Given the description of an element on the screen output the (x, y) to click on. 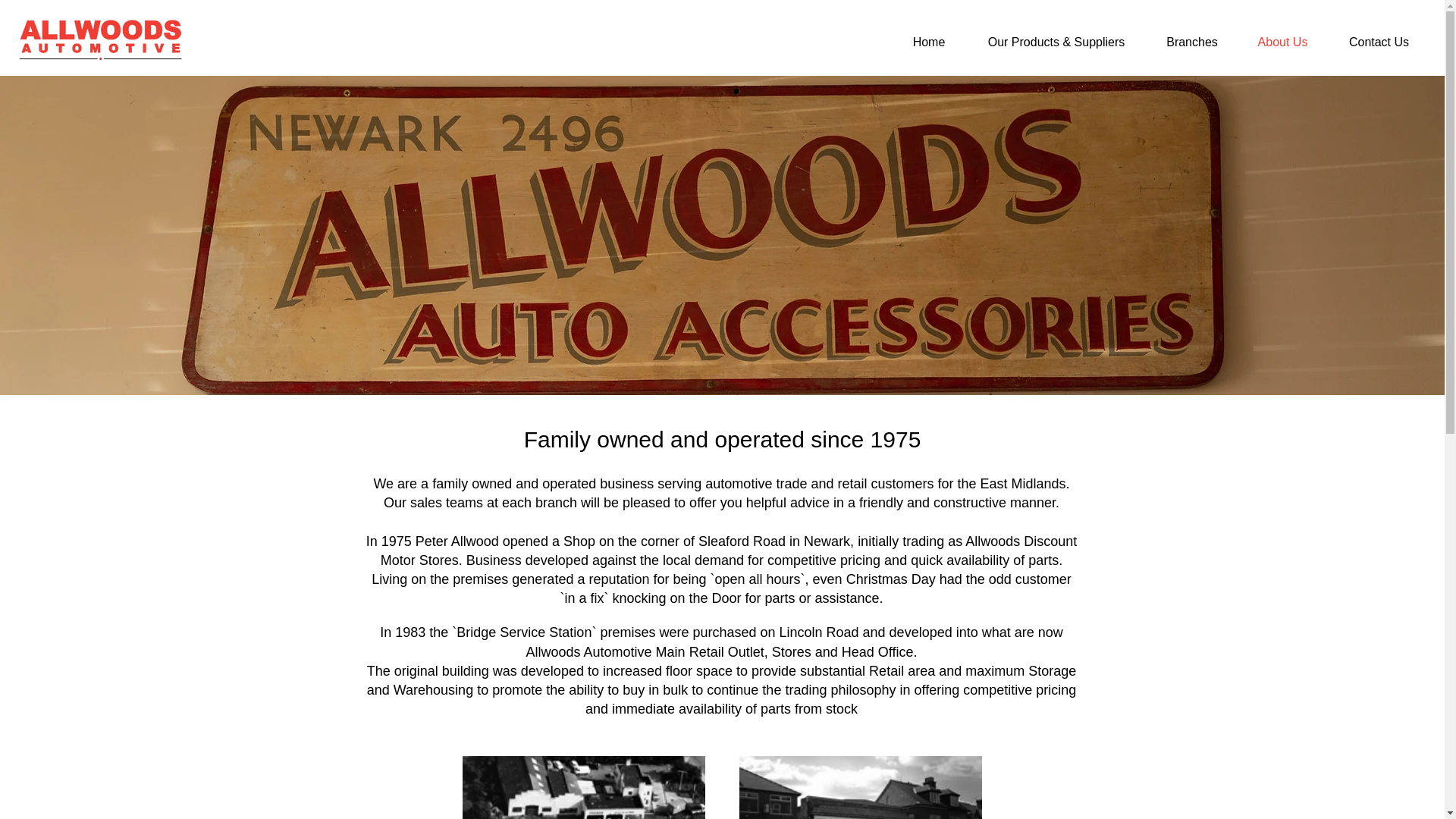
Contact Us (1378, 42)
Home (928, 42)
About Us (1281, 42)
